Given the description of an element on the screen output the (x, y) to click on. 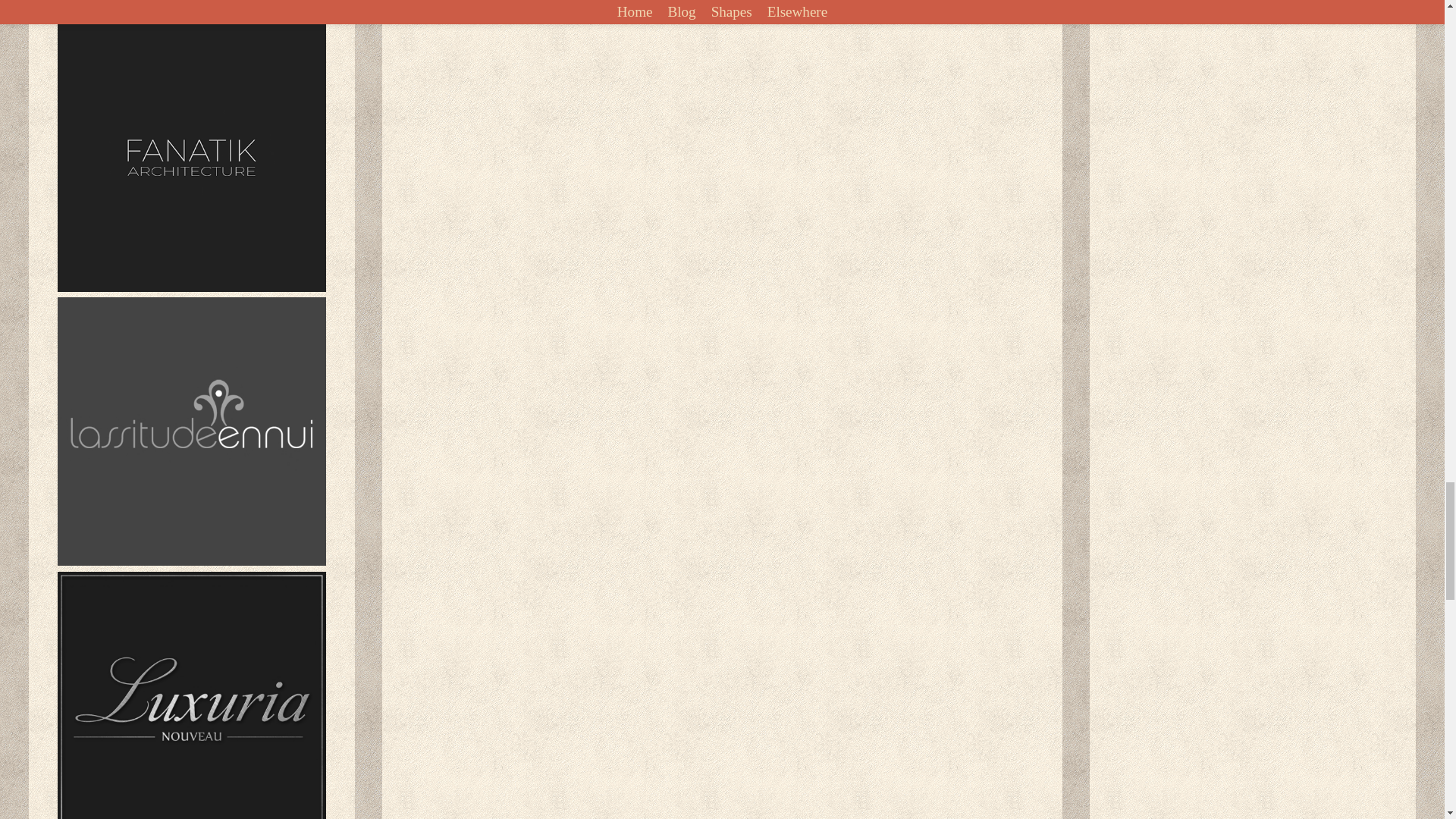
Fanatik (192, 157)
Luxuria (192, 695)
Dutchie (191, 9)
